Given the description of an element on the screen output the (x, y) to click on. 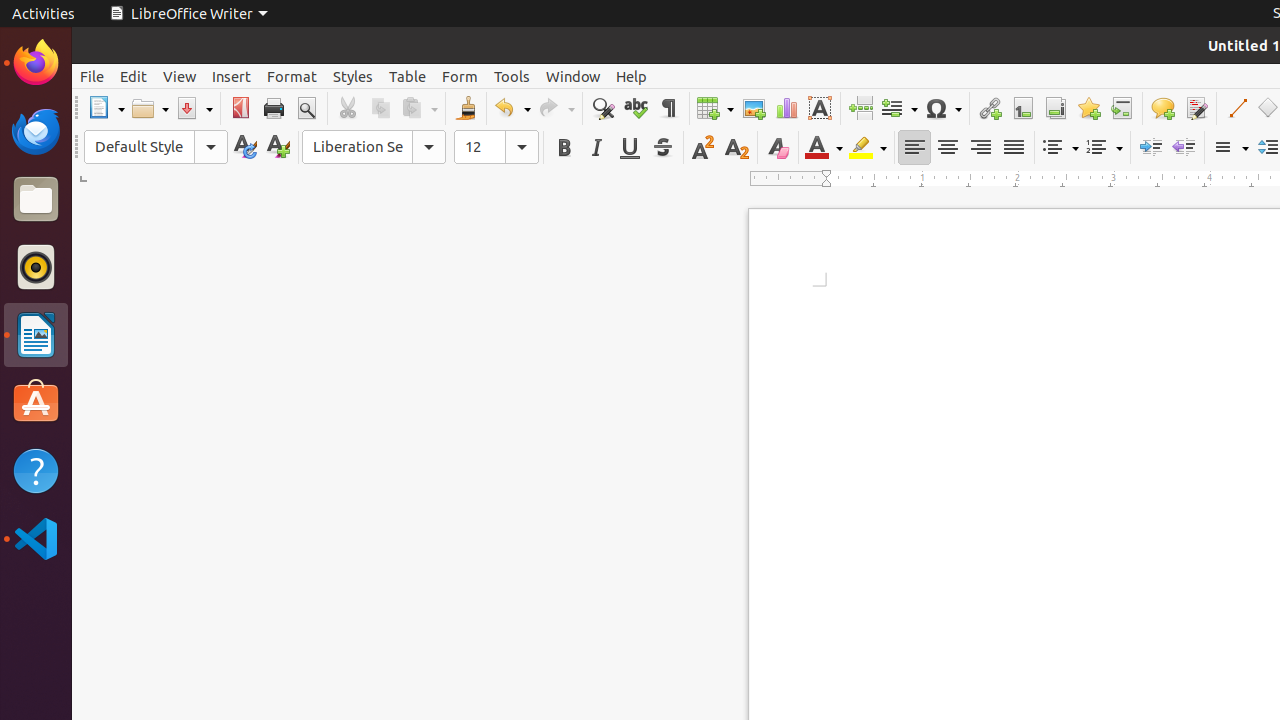
Page Break Element type: push-button (860, 108)
Help Element type: menu (631, 76)
Symbol Element type: push-button (943, 108)
Font Color Element type: push-button (824, 147)
